Given the description of an element on the screen output the (x, y) to click on. 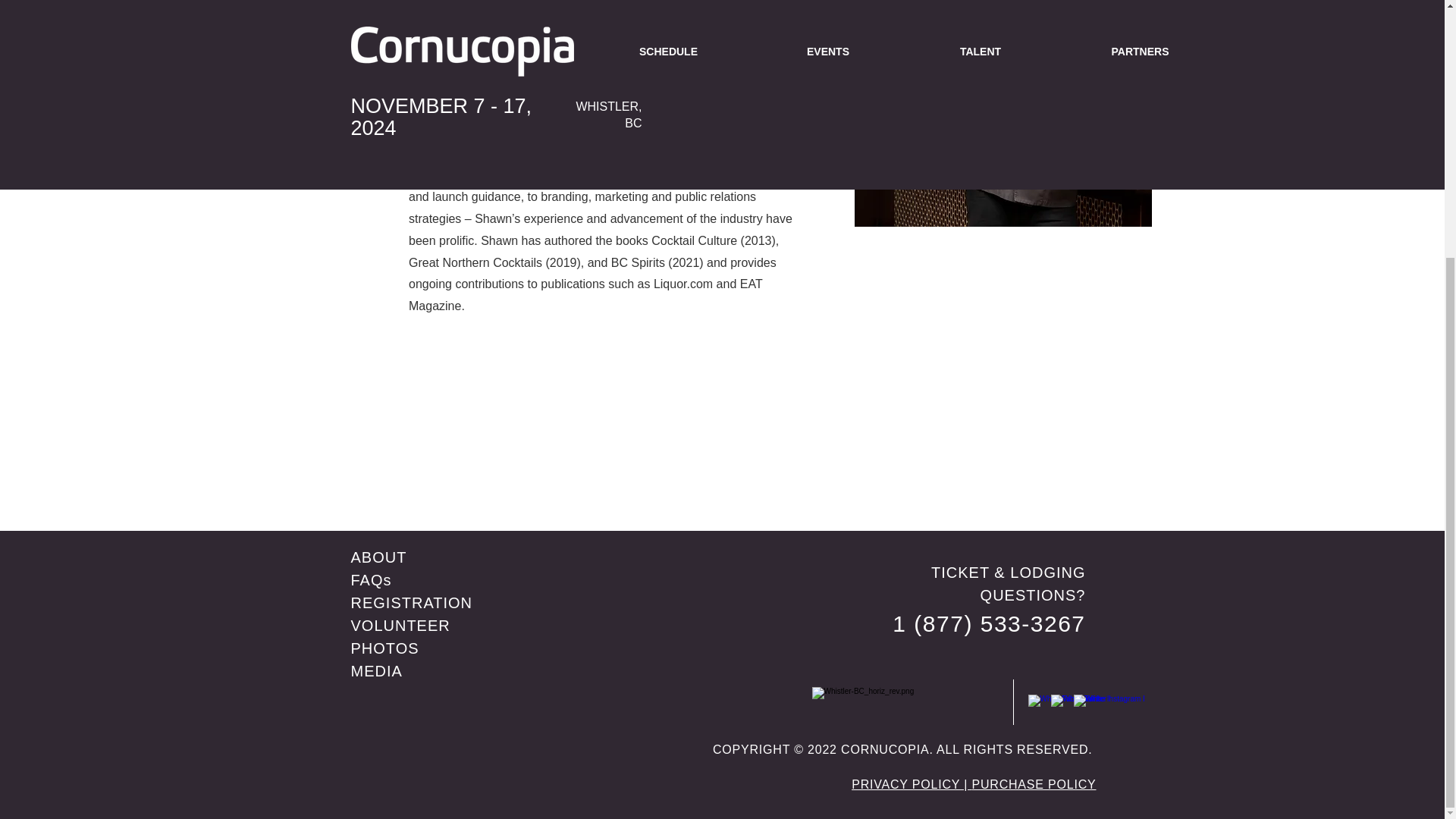
VOLUNTEER (399, 625)
MEDIA (375, 670)
ABOUT (378, 556)
FAQs (370, 579)
PHOTOS (384, 647)
image002.jpg (1002, 113)
REGISTRATION (410, 602)
